Given the description of an element on the screen output the (x, y) to click on. 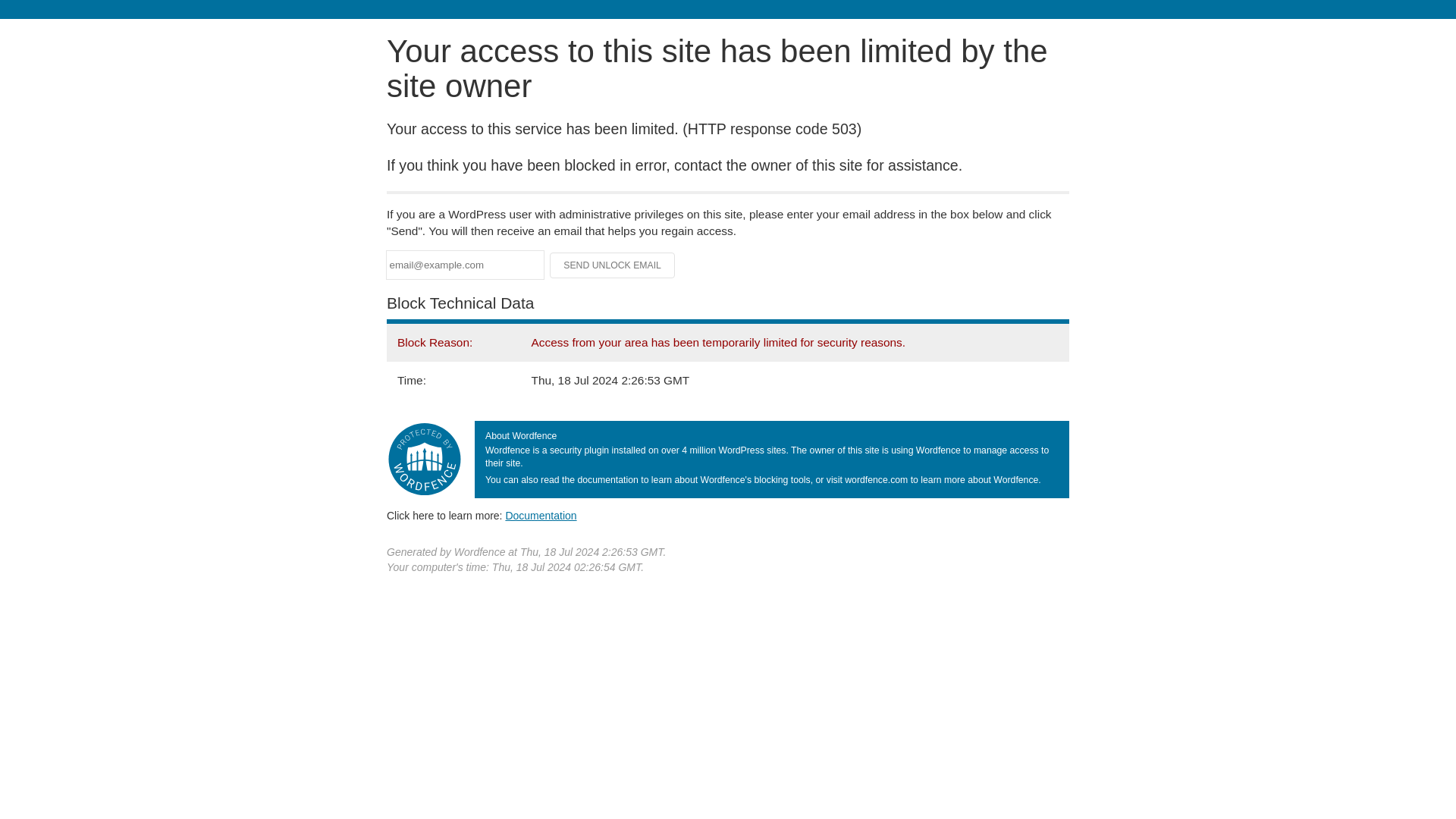
Documentation (540, 515)
Send Unlock Email (612, 265)
Send Unlock Email (612, 265)
